Given the description of an element on the screen output the (x, y) to click on. 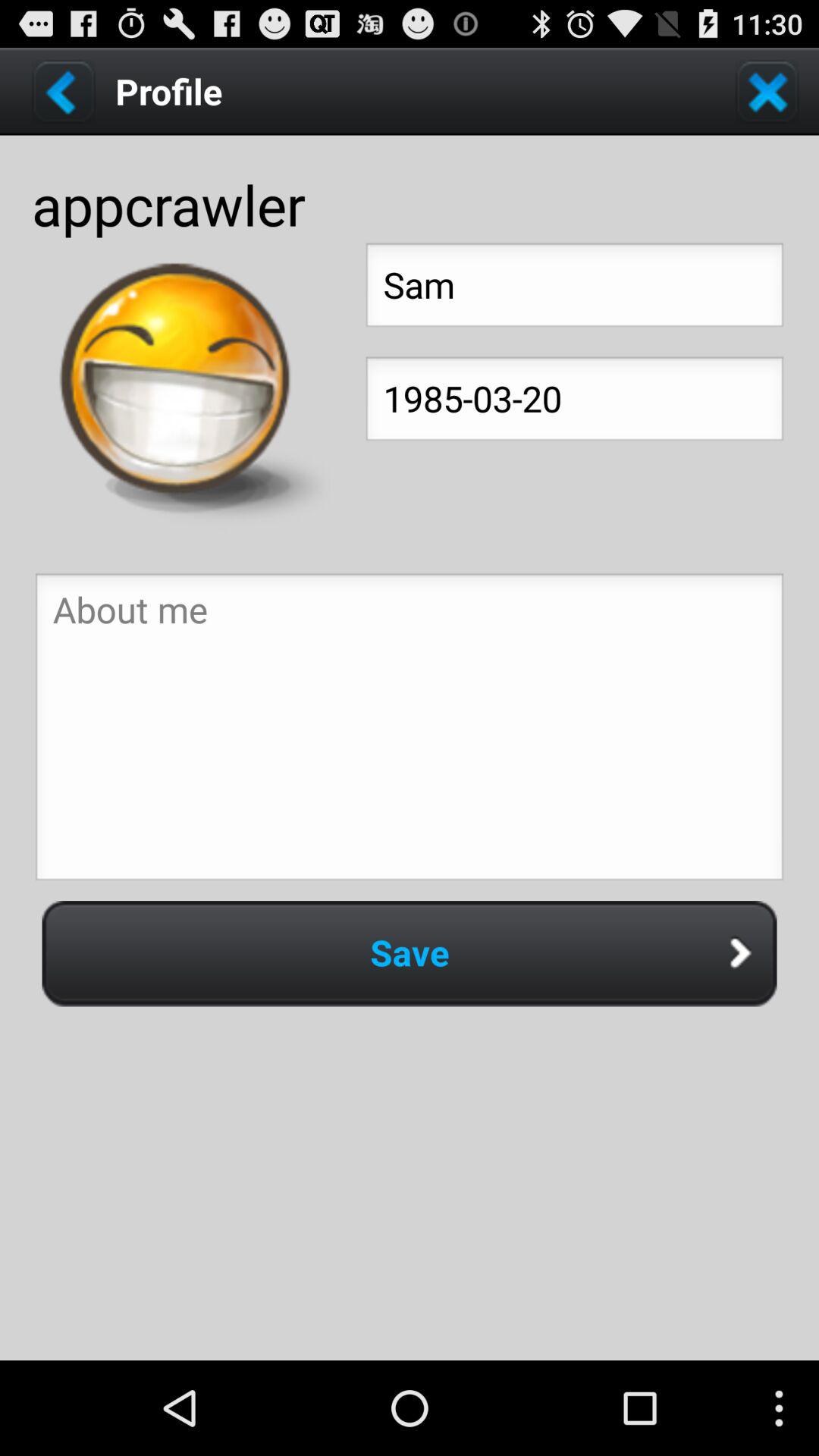
write about me (409, 731)
